Given the description of an element on the screen output the (x, y) to click on. 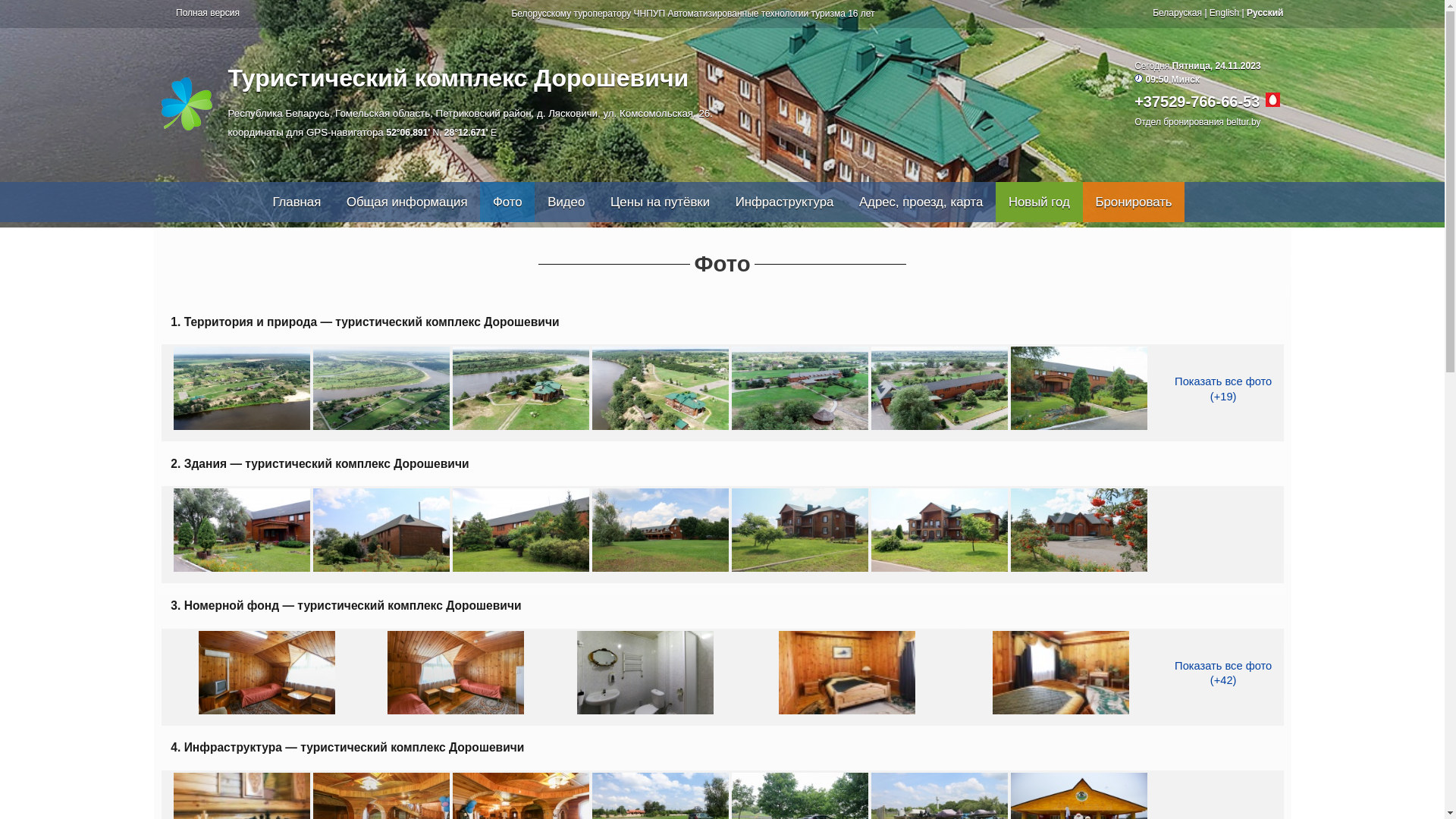
+37529-766-66-53 Element type: text (1196, 101)
English Element type: text (1224, 12)
